Given the description of an element on the screen output the (x, y) to click on. 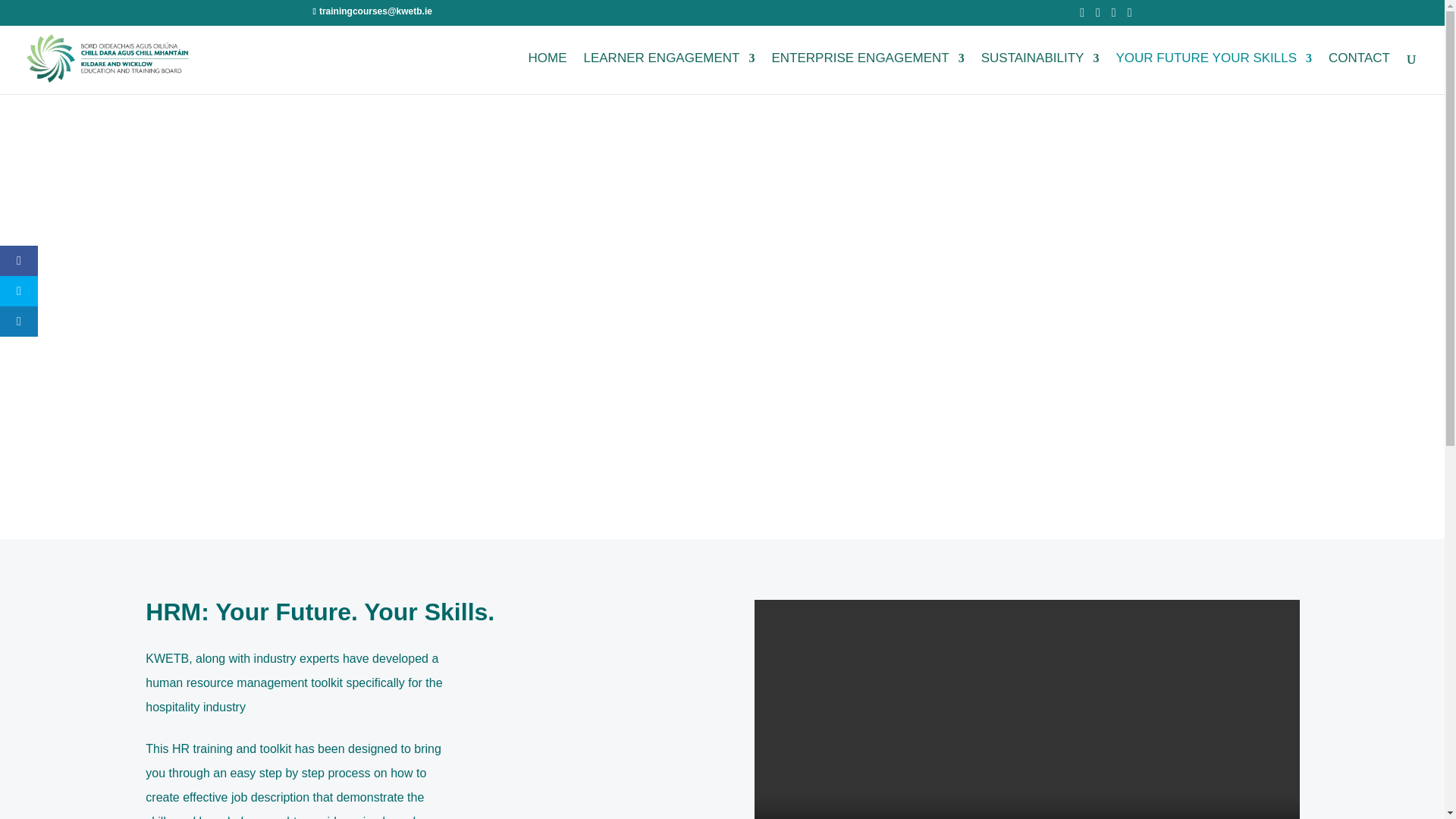
HOME (546, 73)
SUSTAINABILITY (1040, 73)
YOUR FUTURE YOUR SKILLS (1213, 73)
CONTACT (1358, 73)
LEARNER ENGAGEMENT (668, 73)
ENTERPRISE ENGAGEMENT (867, 73)
